Given the description of an element on the screen output the (x, y) to click on. 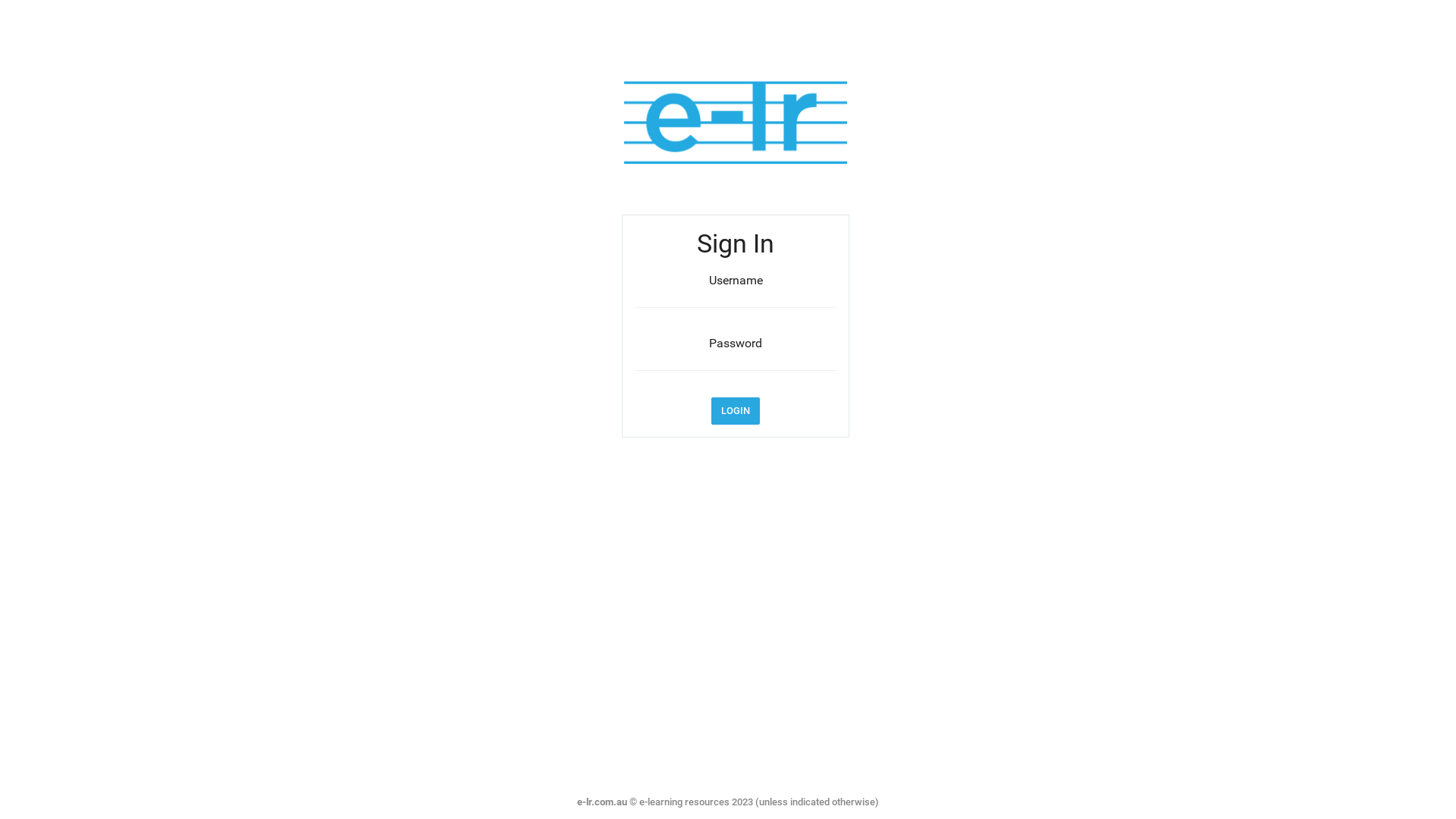
LOGIN Element type: text (735, 411)
